Given the description of an element on the screen output the (x, y) to click on. 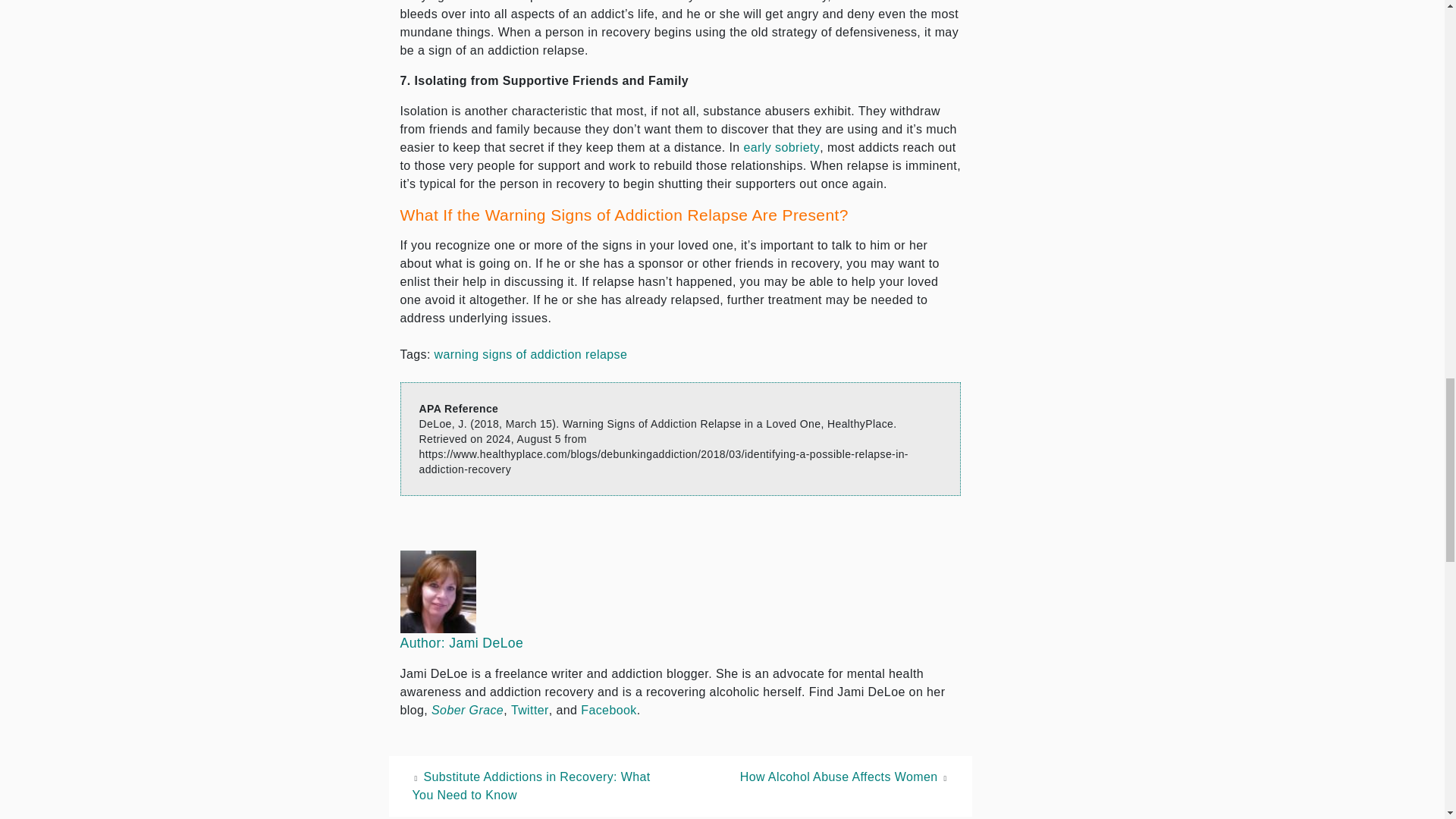
Advice for Early Sobriety and Regaining Control of Your Life (780, 146)
